Given the description of an element on the screen output the (x, y) to click on. 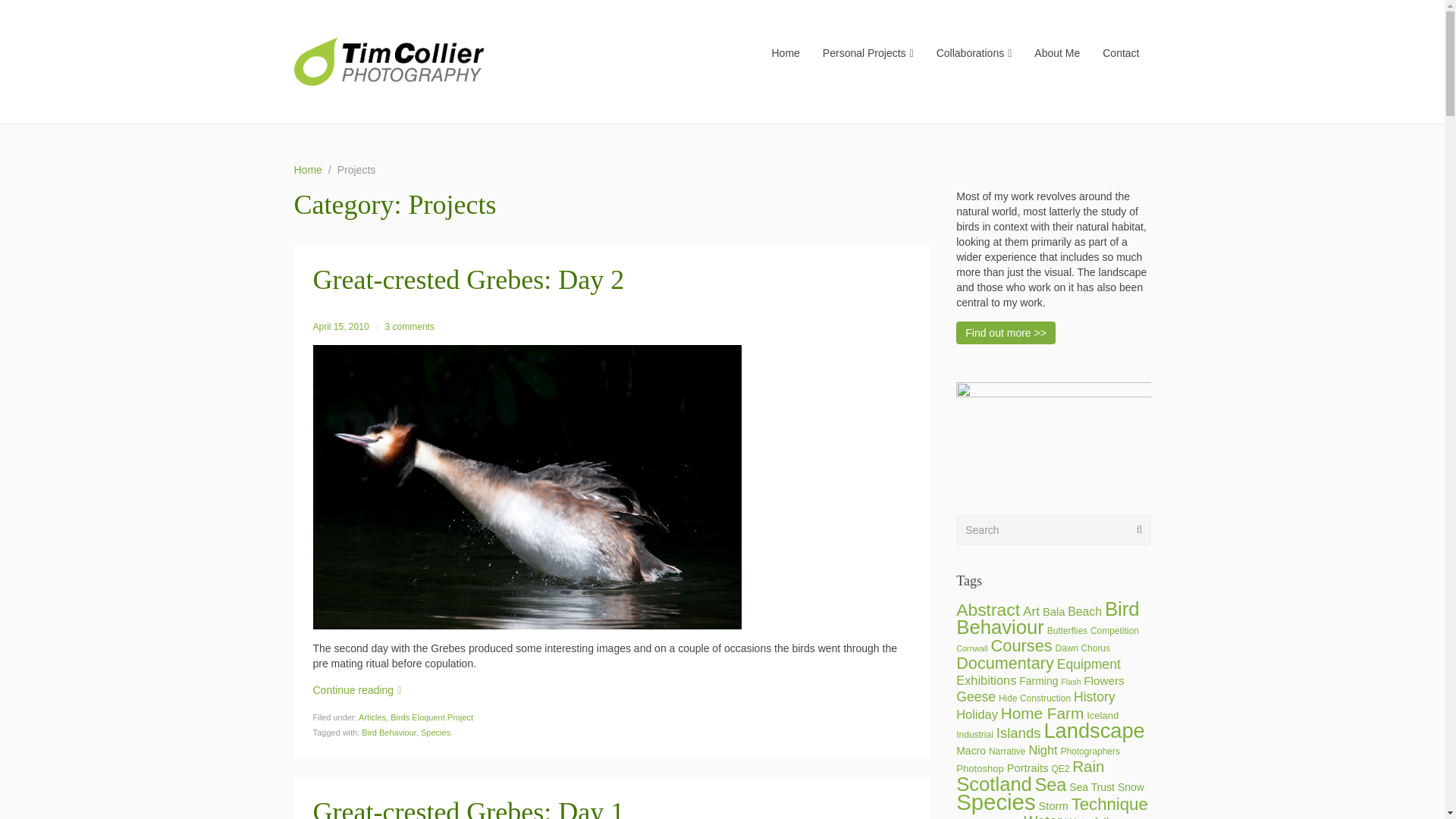
Personal Projects (867, 52)
Articles (371, 716)
Home (307, 169)
Great-crested Grebes: Day 2 (468, 279)
Great-crested Grebes: Day 1 (468, 807)
Birds Eloquent Project (431, 716)
Home (785, 52)
3 comments (409, 326)
grebe1 (527, 486)
Collaborations (973, 52)
